Given the description of an element on the screen output the (x, y) to click on. 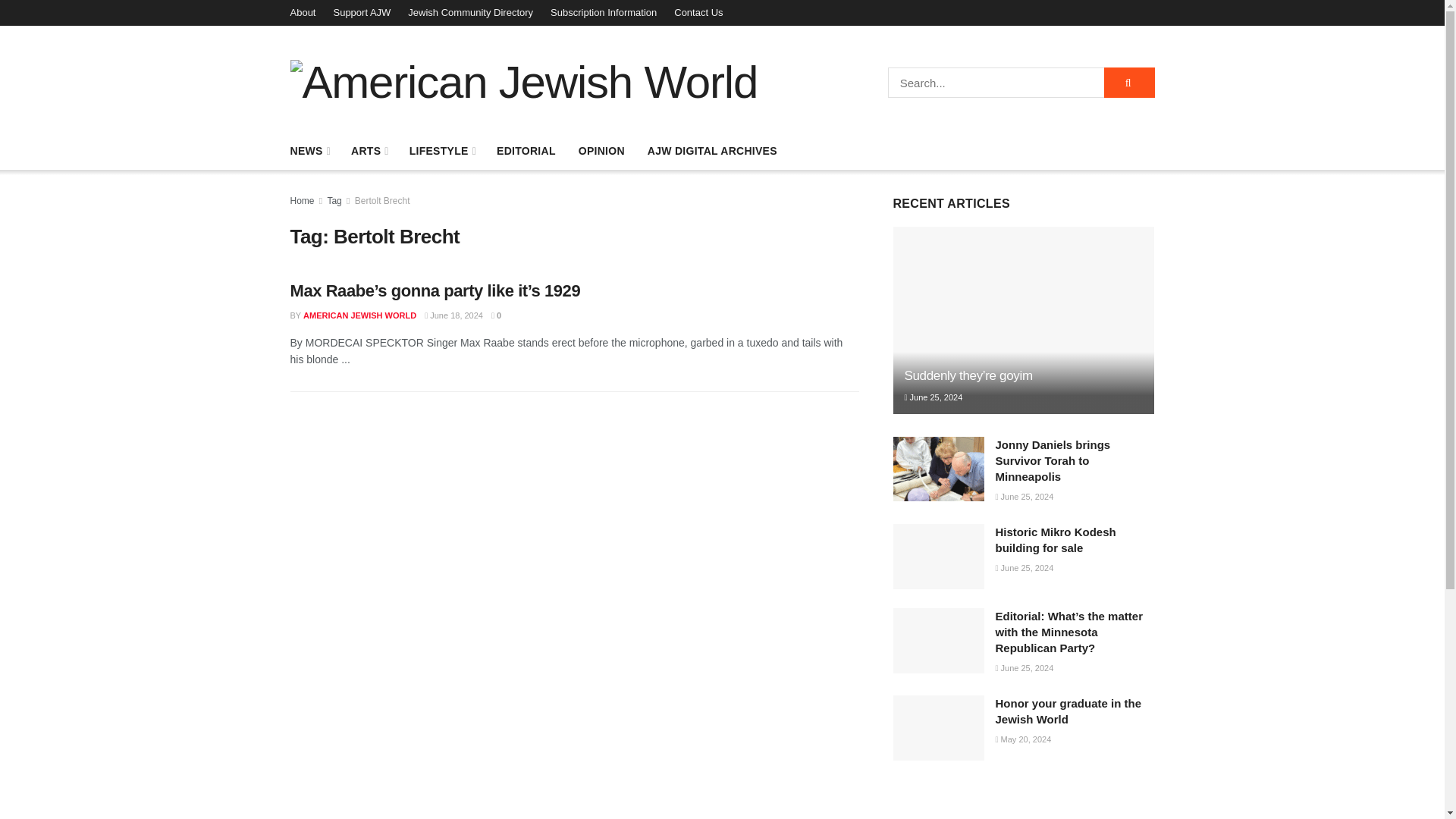
Jewish Community Directory (469, 12)
LIFESTYLE (441, 150)
ARTS (368, 150)
Subscription Information (603, 12)
Support AJW (361, 12)
About (302, 12)
NEWS (309, 150)
Contact Us (698, 12)
